Given the description of an element on the screen output the (x, y) to click on. 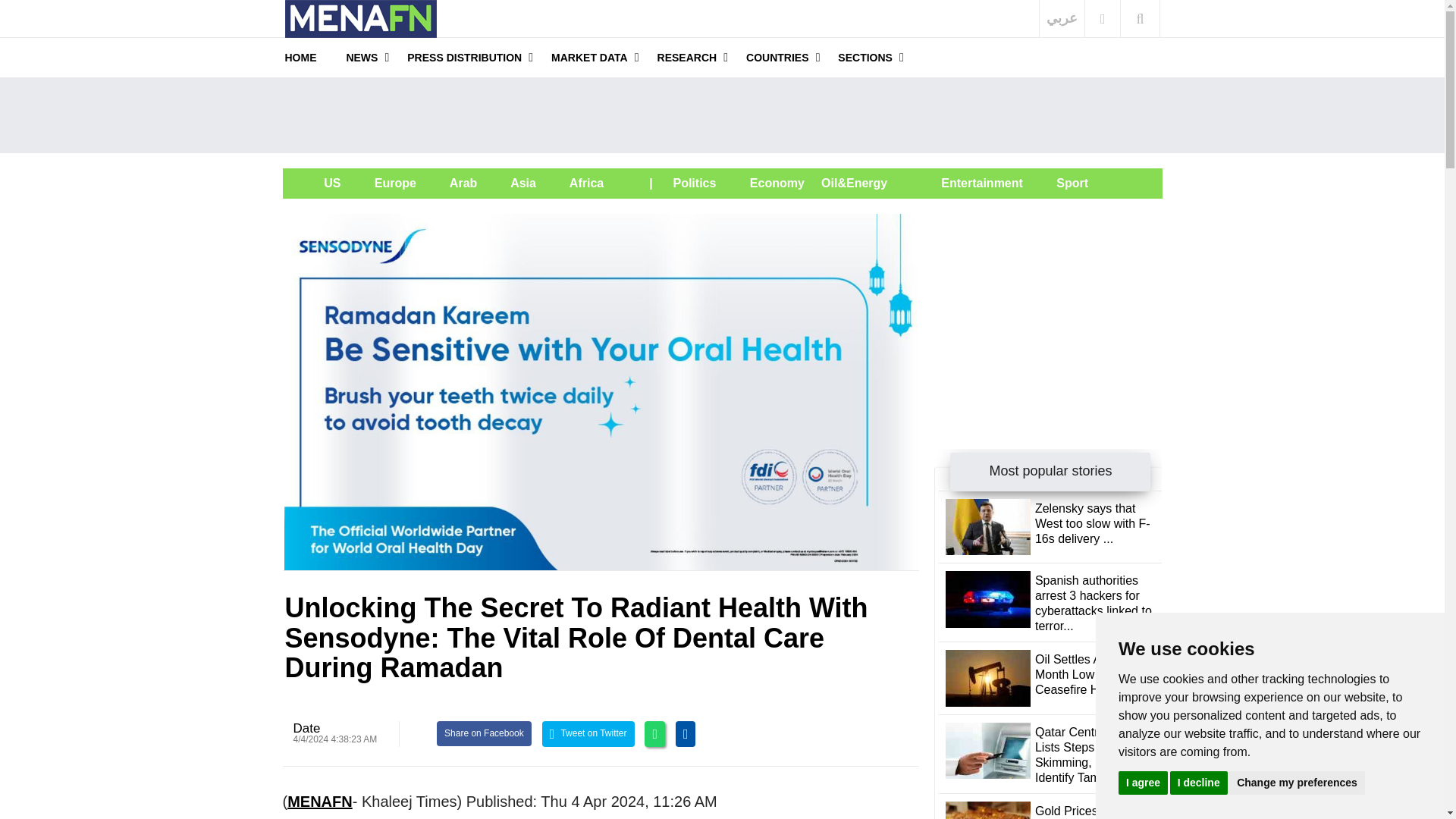
Change my preferences (1296, 781)
PRESS DISTRIBUTION (464, 56)
I decline (1198, 781)
I agree (1142, 781)
MARKET DATA (589, 56)
Advertisement (1047, 308)
Posts by NewEdge (306, 728)
Advertisement (721, 115)
